Given the description of an element on the screen output the (x, y) to click on. 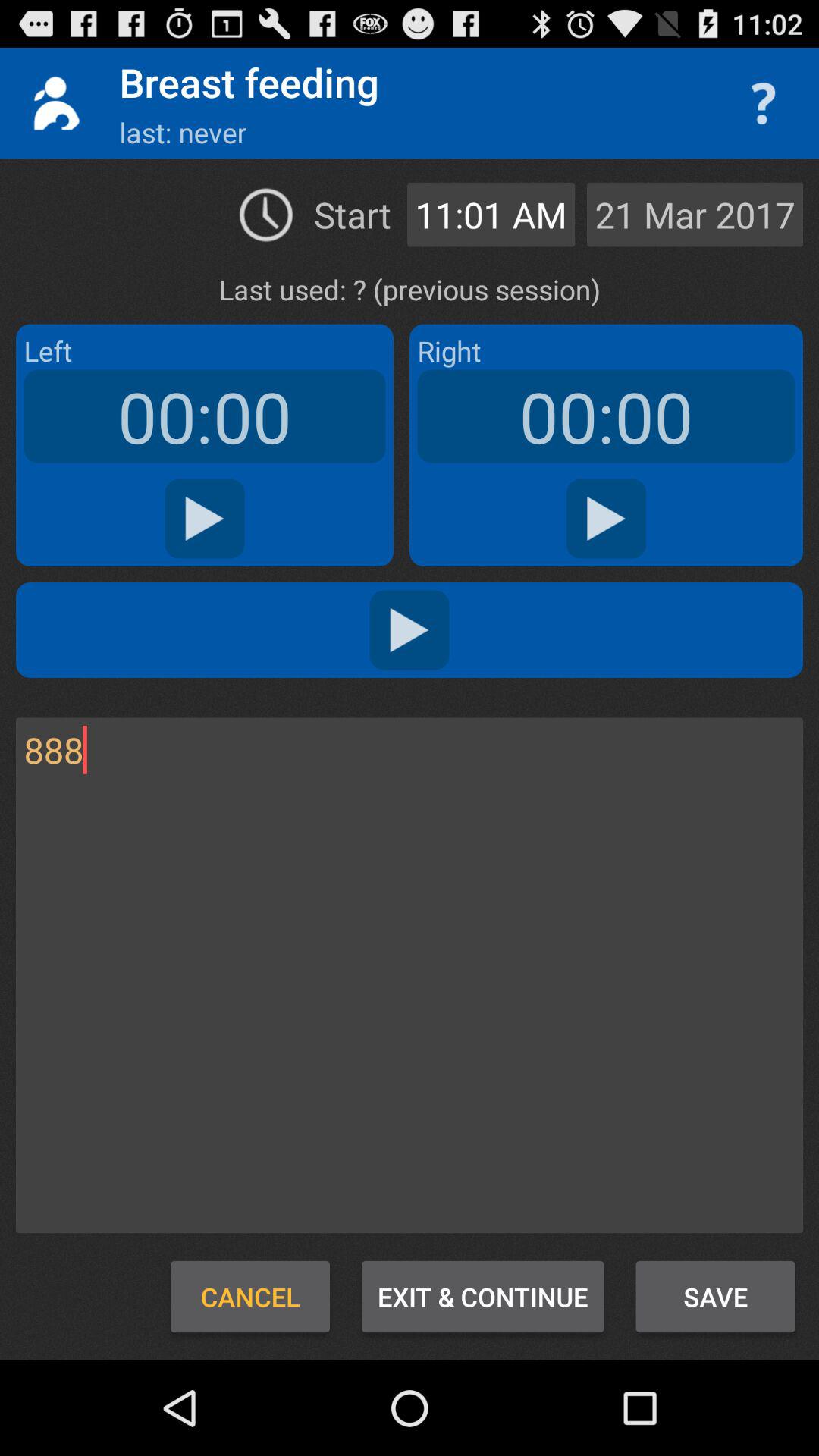
switch the help option (763, 103)
